Given the description of an element on the screen output the (x, y) to click on. 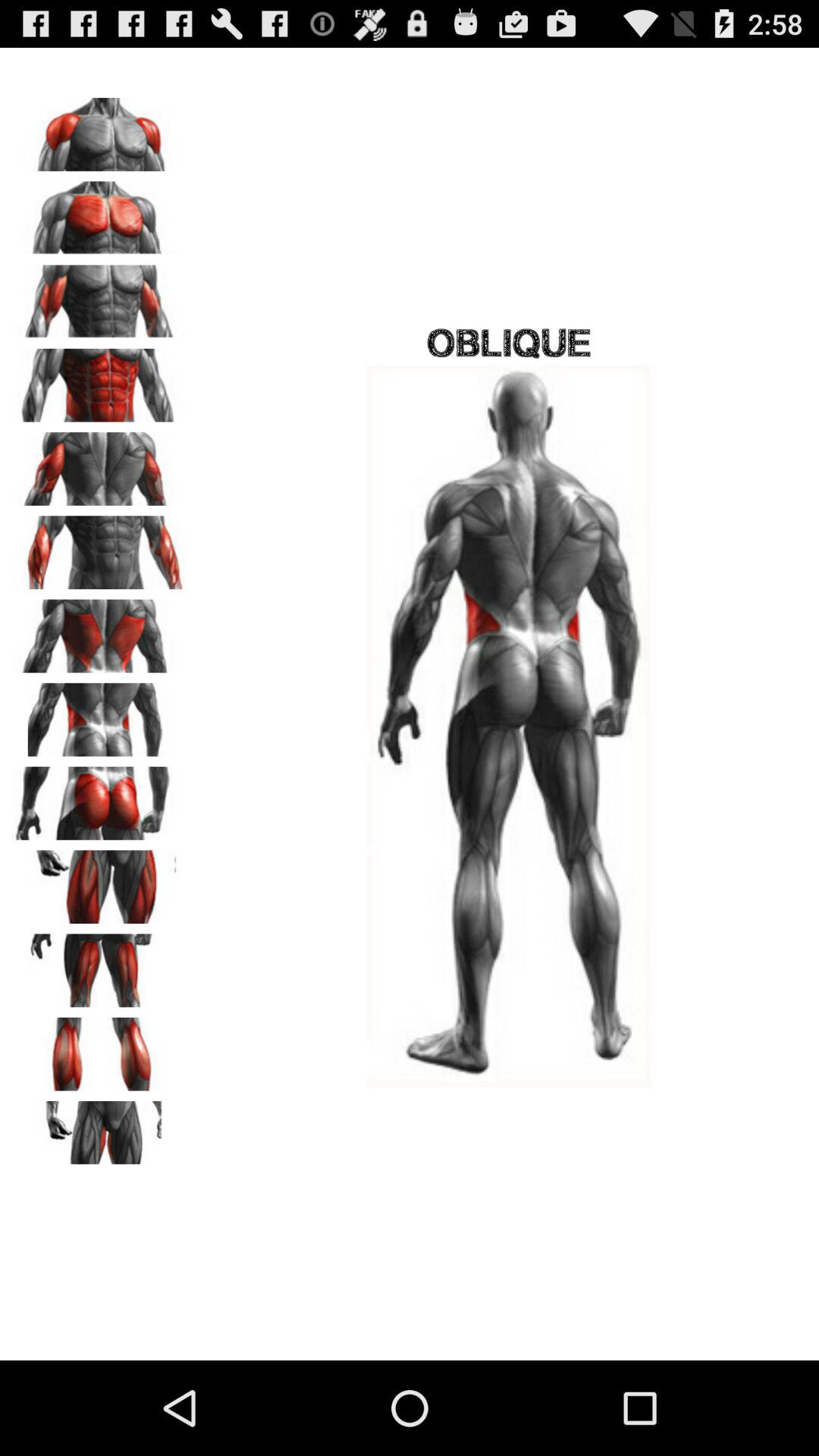
display abdominals (99, 380)
